Given the description of an element on the screen output the (x, y) to click on. 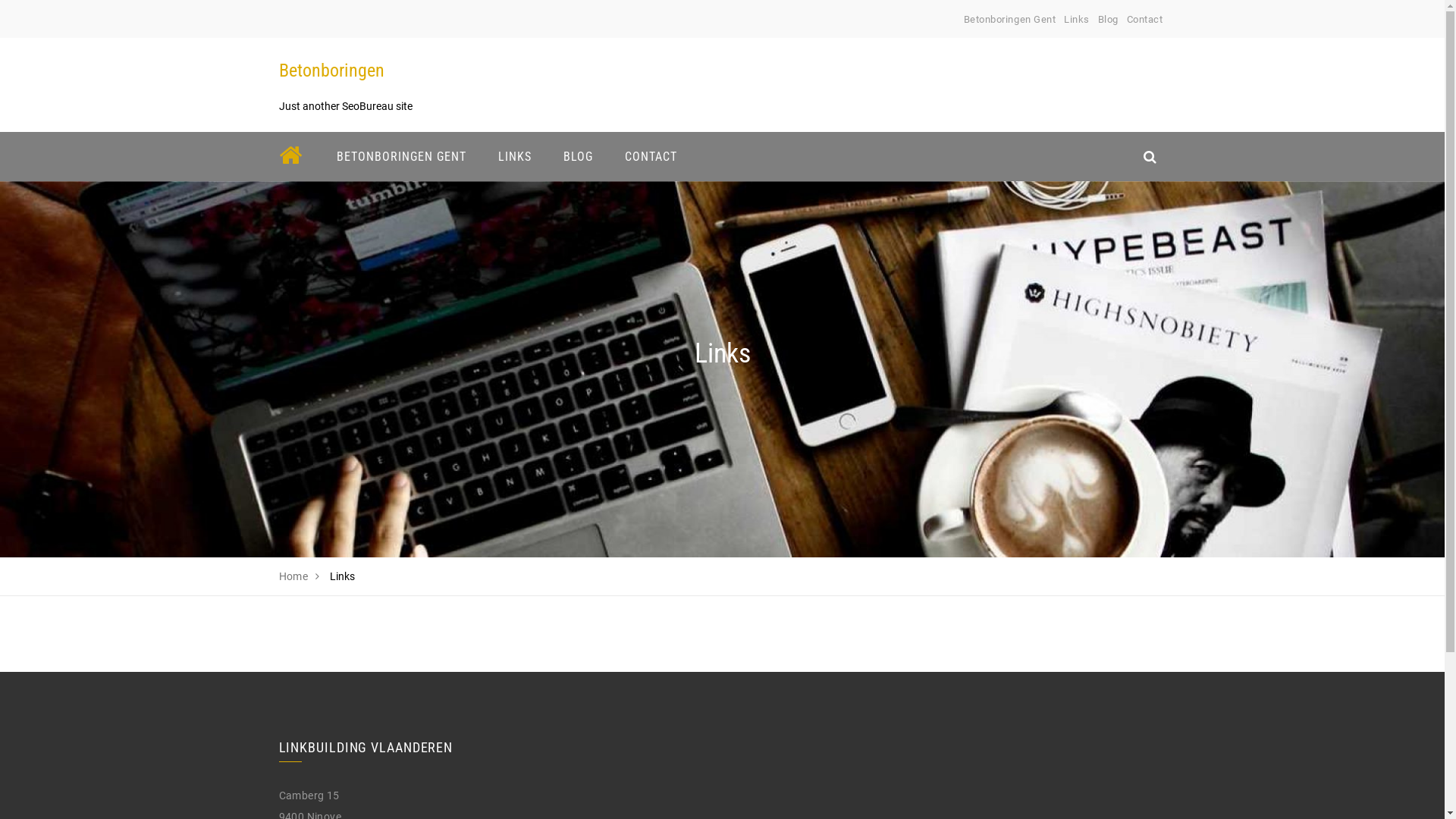
BLOG Element type: text (577, 156)
LINKS Element type: text (514, 156)
Blog Element type: text (1108, 19)
Contact Element type: text (1144, 19)
Links Element type: text (1076, 19)
search_icon Element type: hover (1148, 156)
BETONBORINGEN GENT Element type: text (400, 156)
Home Element type: text (293, 576)
Betonboringen Gent Element type: text (1009, 19)
Betonboringen Element type: text (331, 70)
CONTACT Element type: text (650, 156)
